Given the description of an element on the screen output the (x, y) to click on. 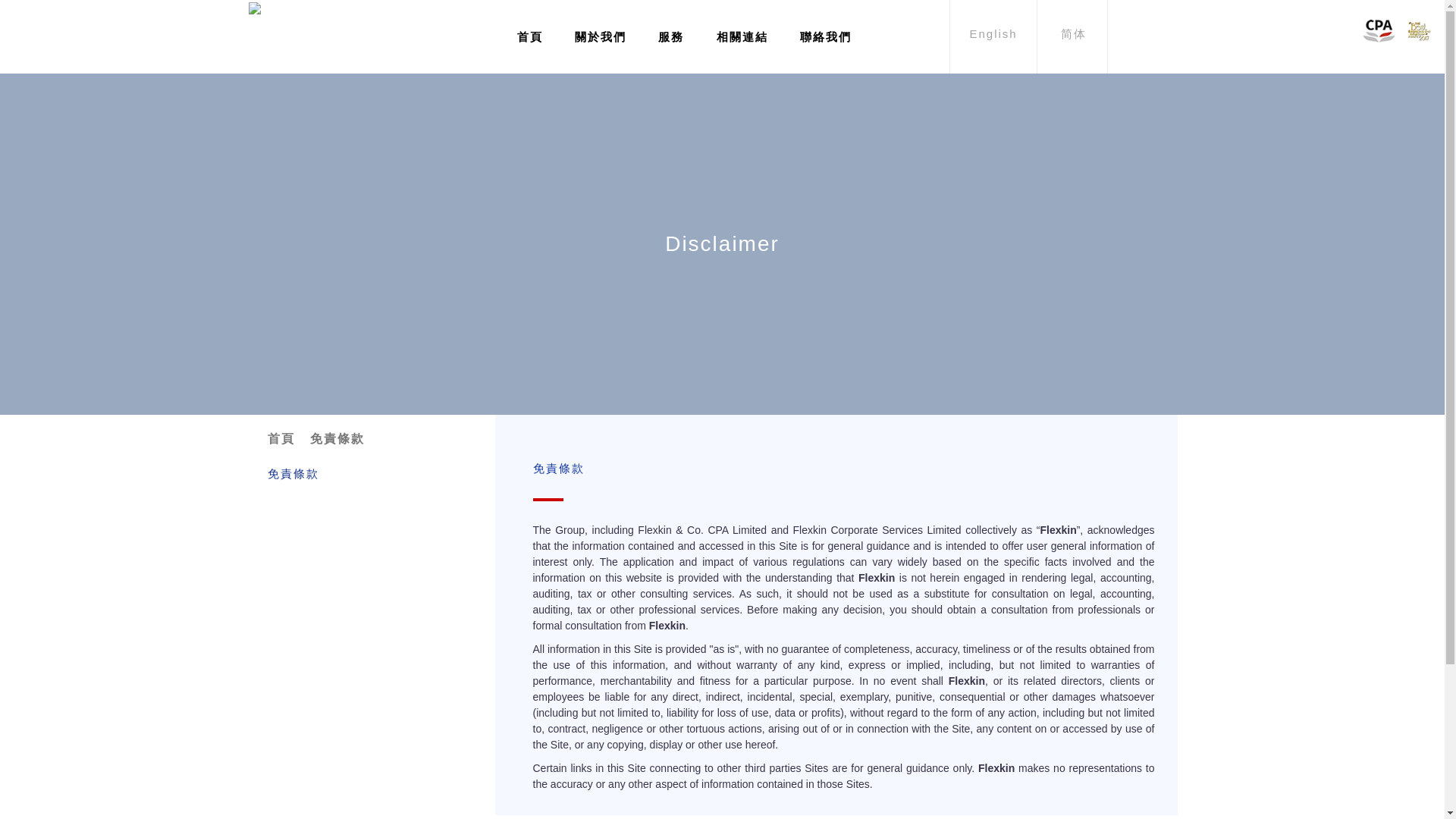
English (992, 36)
